Given the description of an element on the screen output the (x, y) to click on. 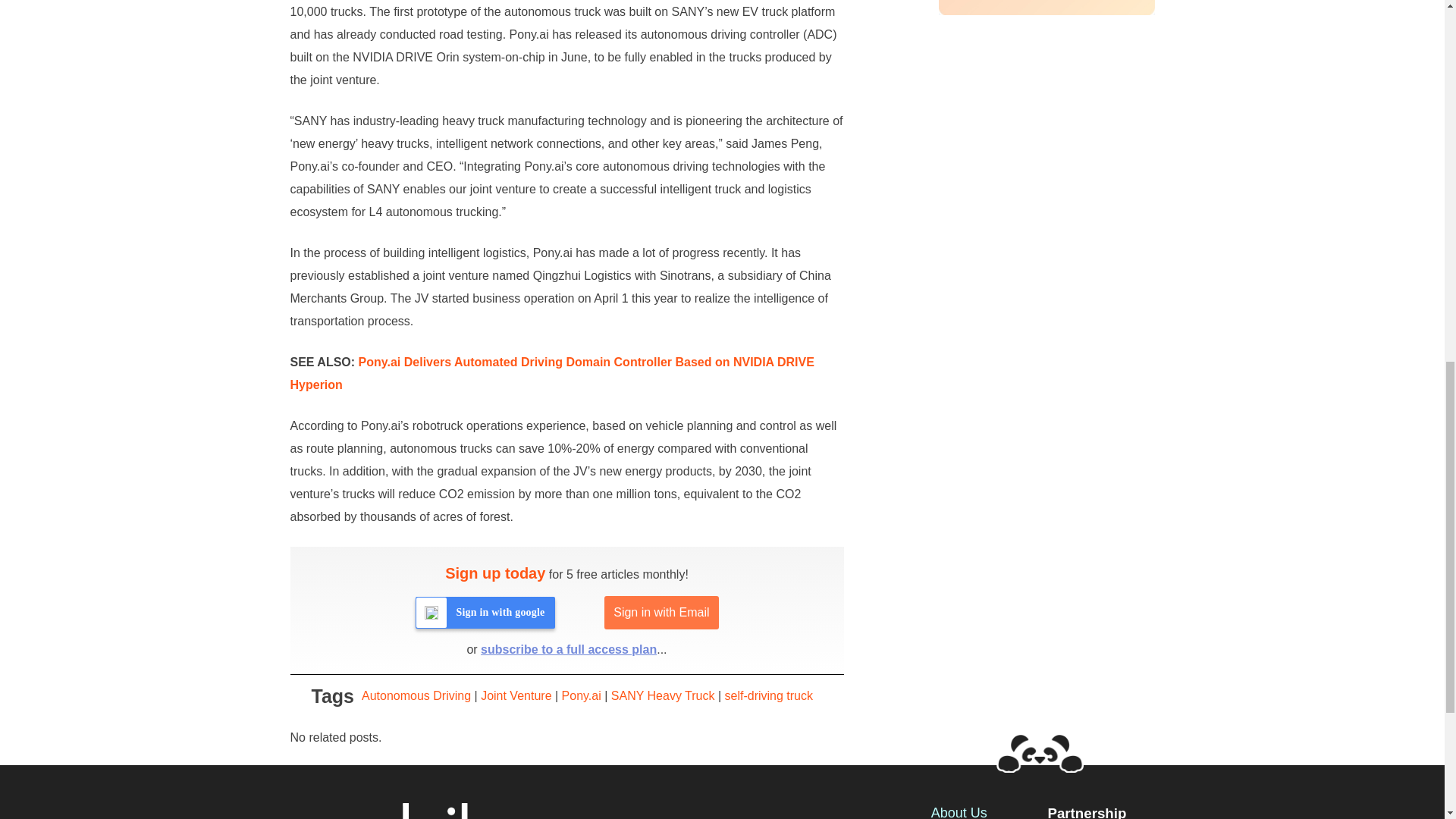
Sign in with Email (660, 612)
subscribe to a full access plan (568, 649)
